Given the description of an element on the screen output the (x, y) to click on. 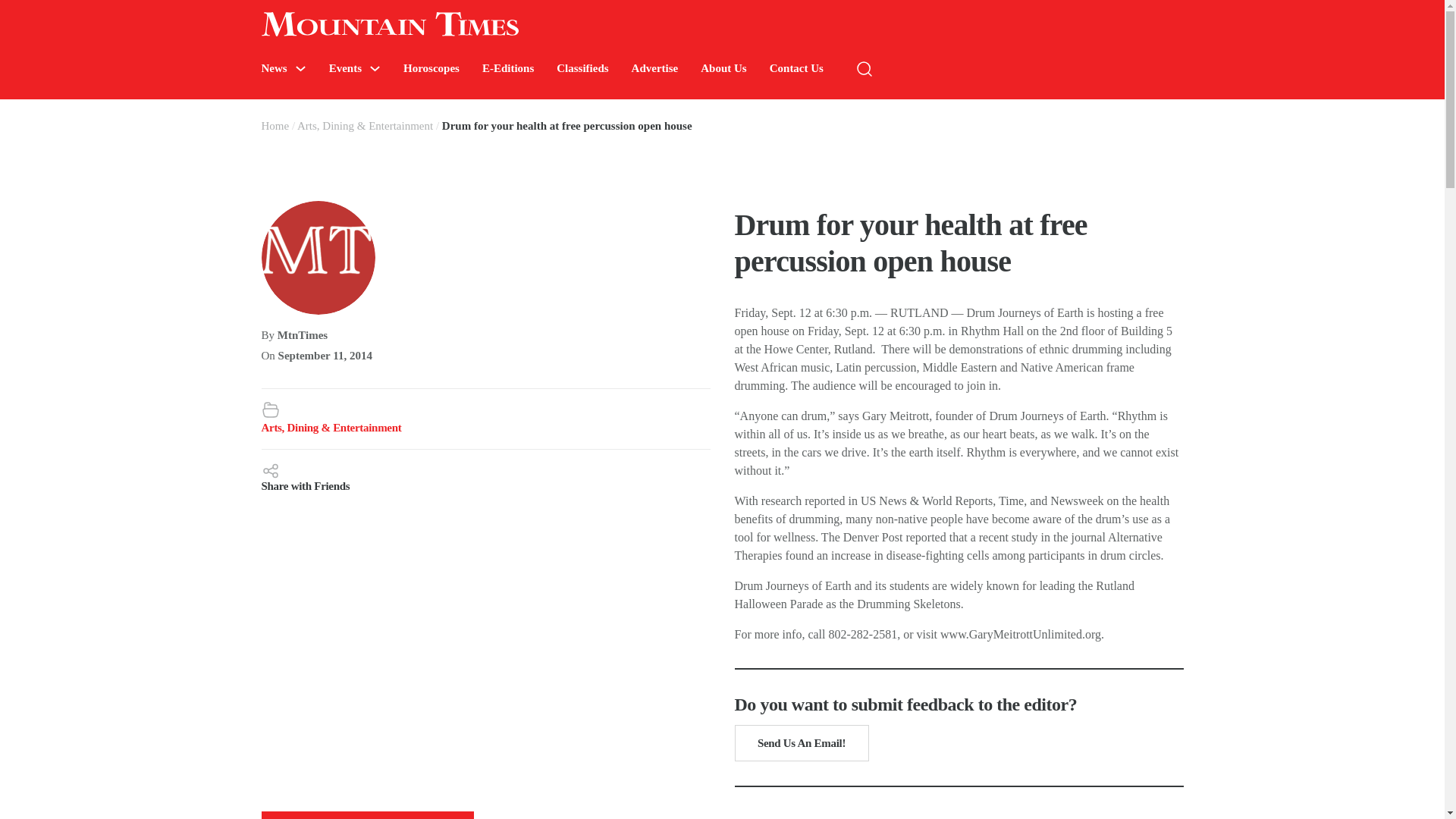
Contact Us (797, 67)
Advertise (654, 67)
MtnTimes (302, 335)
Share with Friends (485, 476)
Classifieds (582, 67)
Send Us An Email! (800, 743)
Home (274, 125)
Search (1274, 114)
E-Editions (507, 67)
Events (345, 67)
